Given the description of an element on the screen output the (x, y) to click on. 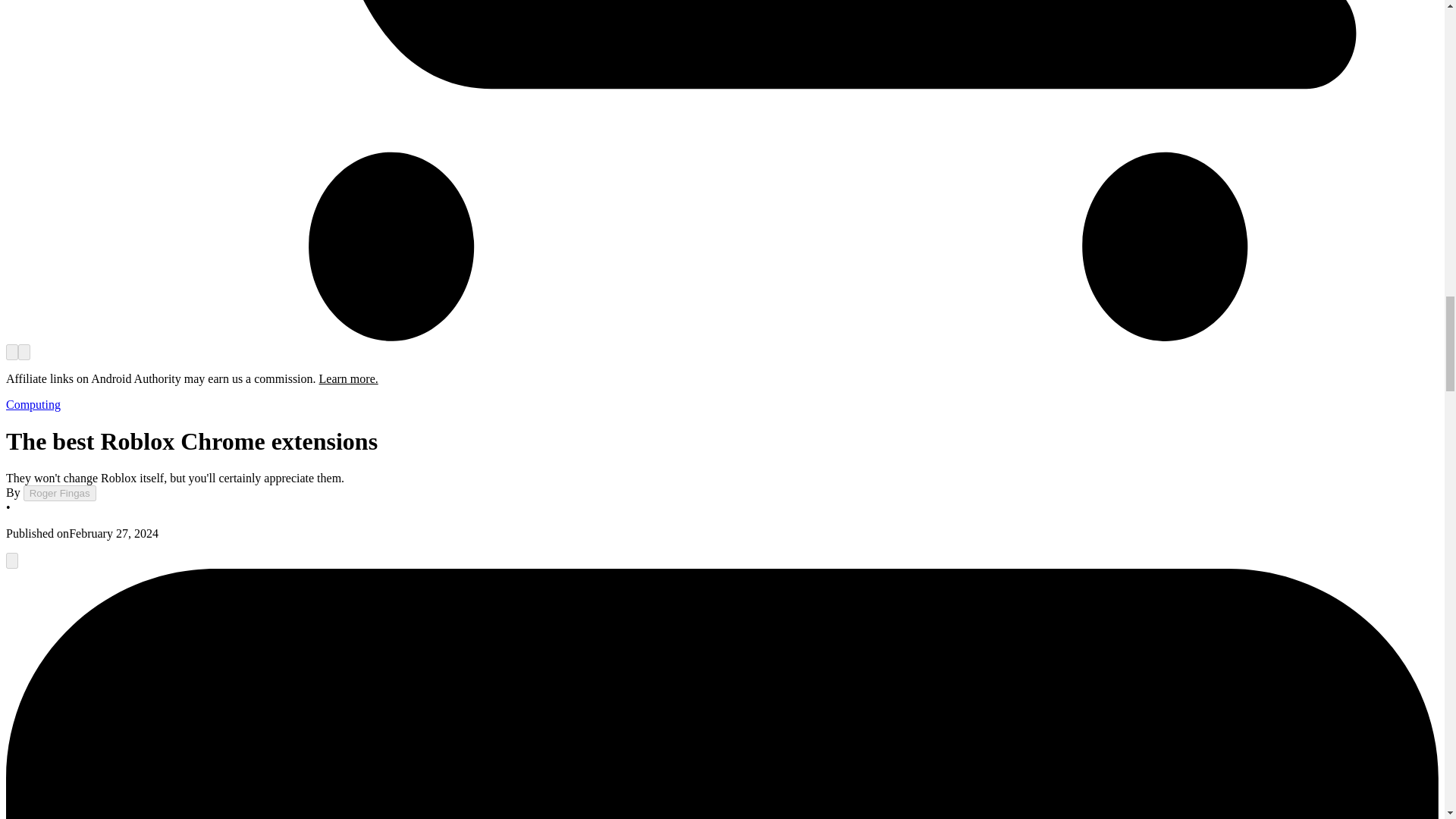
Learn more. (348, 378)
Roger Fingas (59, 493)
Computing (33, 404)
